Given the description of an element on the screen output the (x, y) to click on. 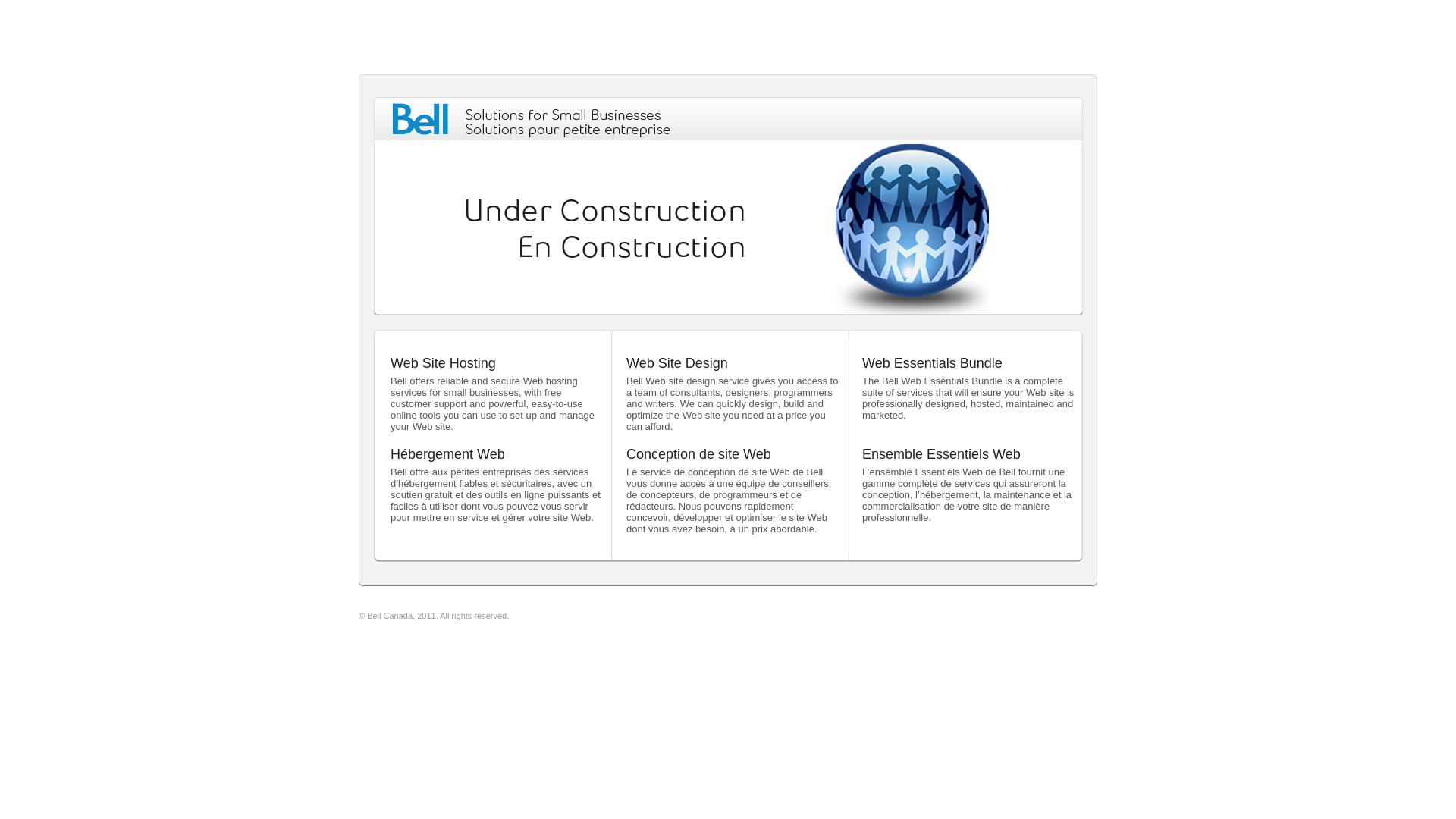
En Construction Element type: hover (631, 246)
Solutions pour petite entreprise Element type: hover (567, 130)
Solutions for Small Businesses Element type: hover (562, 114)
Bell Element type: hover (420, 118)
Under Construction Element type: hover (604, 210)
